Given the description of an element on the screen output the (x, y) to click on. 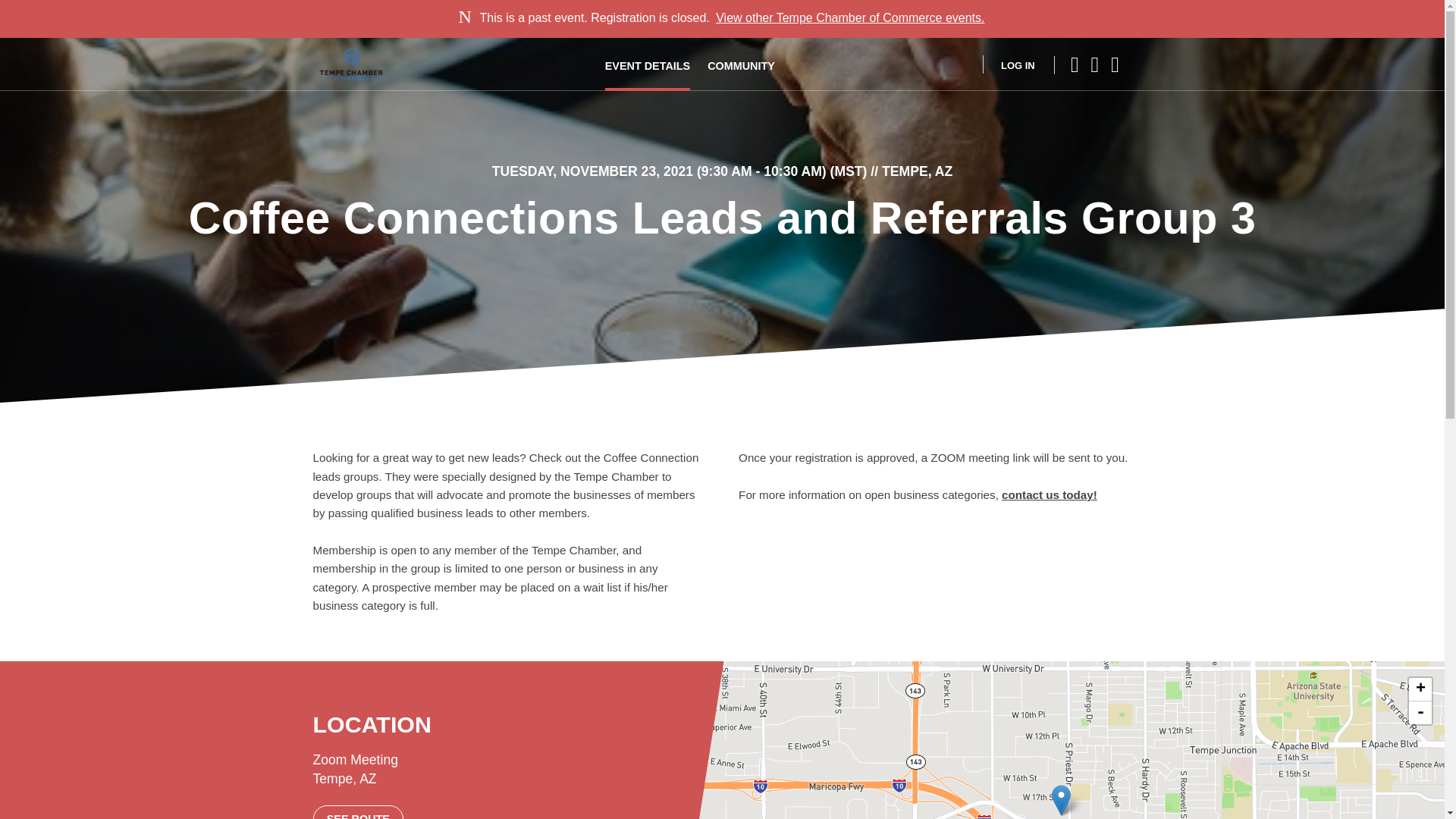
Zoom in (1420, 689)
Sign in (1008, 63)
contact us today! (1049, 494)
LOG IN (1008, 63)
COMMUNITY (740, 63)
- (1420, 712)
SEE ROUTE (358, 812)
EVENT DETAILS (647, 63)
Zoom out (1420, 712)
View other Tempe Chamber of Commerce events. (850, 17)
